Given the description of an element on the screen output the (x, y) to click on. 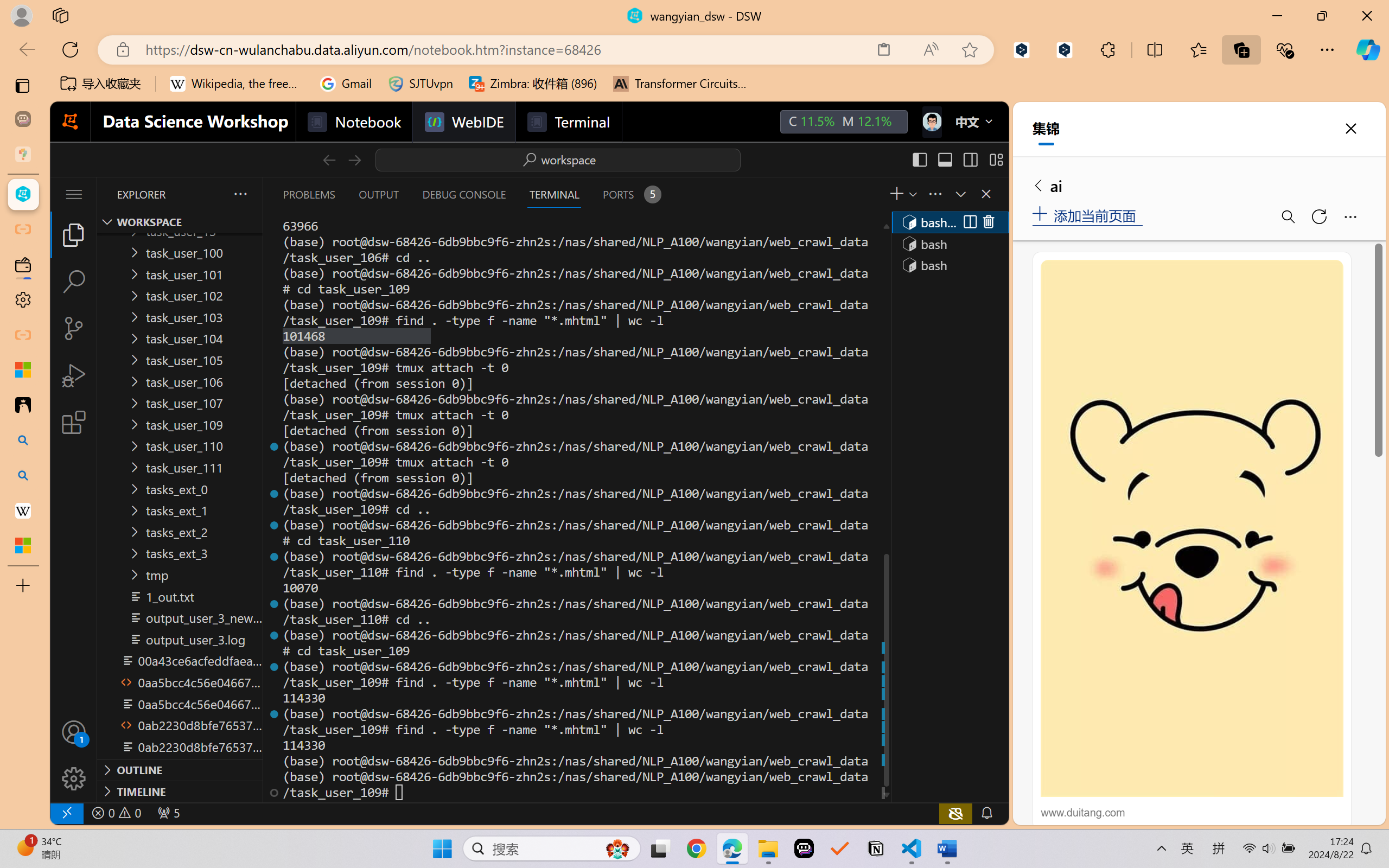
Extensions (Ctrl+Shift+X) (73, 422)
Explorer Section: workspace (179, 221)
Explorer actions (211, 194)
copilot-notconnected, Copilot error (click for details) (955, 812)
Forwarded Ports: 36301, 47065, 38781, 45817, 50331 (167, 812)
Kill (Delete) (987, 221)
Transformer Circuits Thread (680, 83)
